Given the description of an element on the screen output the (x, y) to click on. 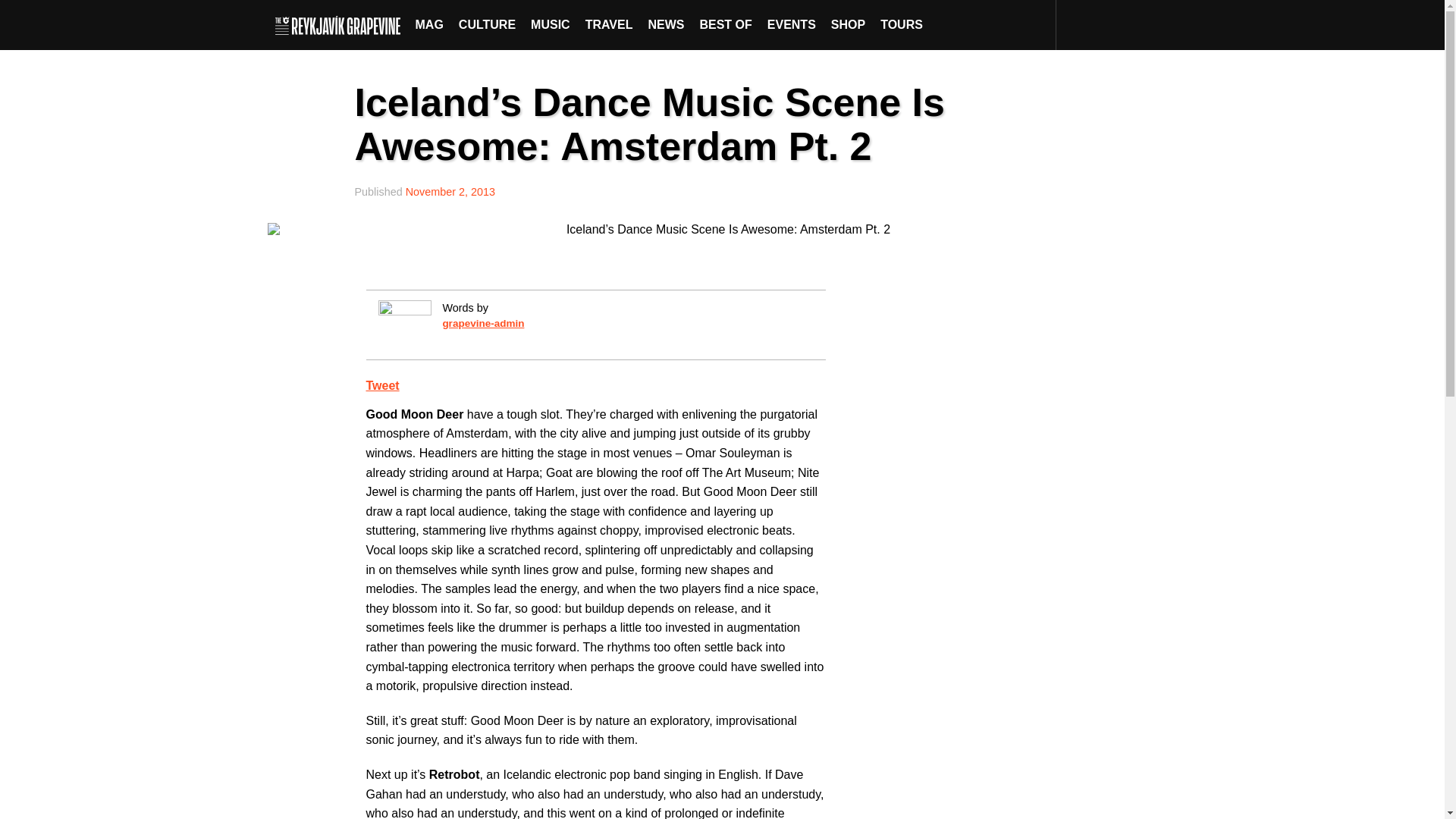
TOURS (901, 24)
The Reykjavik Grapevine (341, 24)
Posts by grapevine-admin (483, 323)
Tweet (381, 385)
EVENTS (792, 24)
BEST OF (724, 24)
grapevine-admin (483, 323)
SHOP (848, 24)
NEWS (665, 24)
TRAVEL (609, 24)
